Given the description of an element on the screen output the (x, y) to click on. 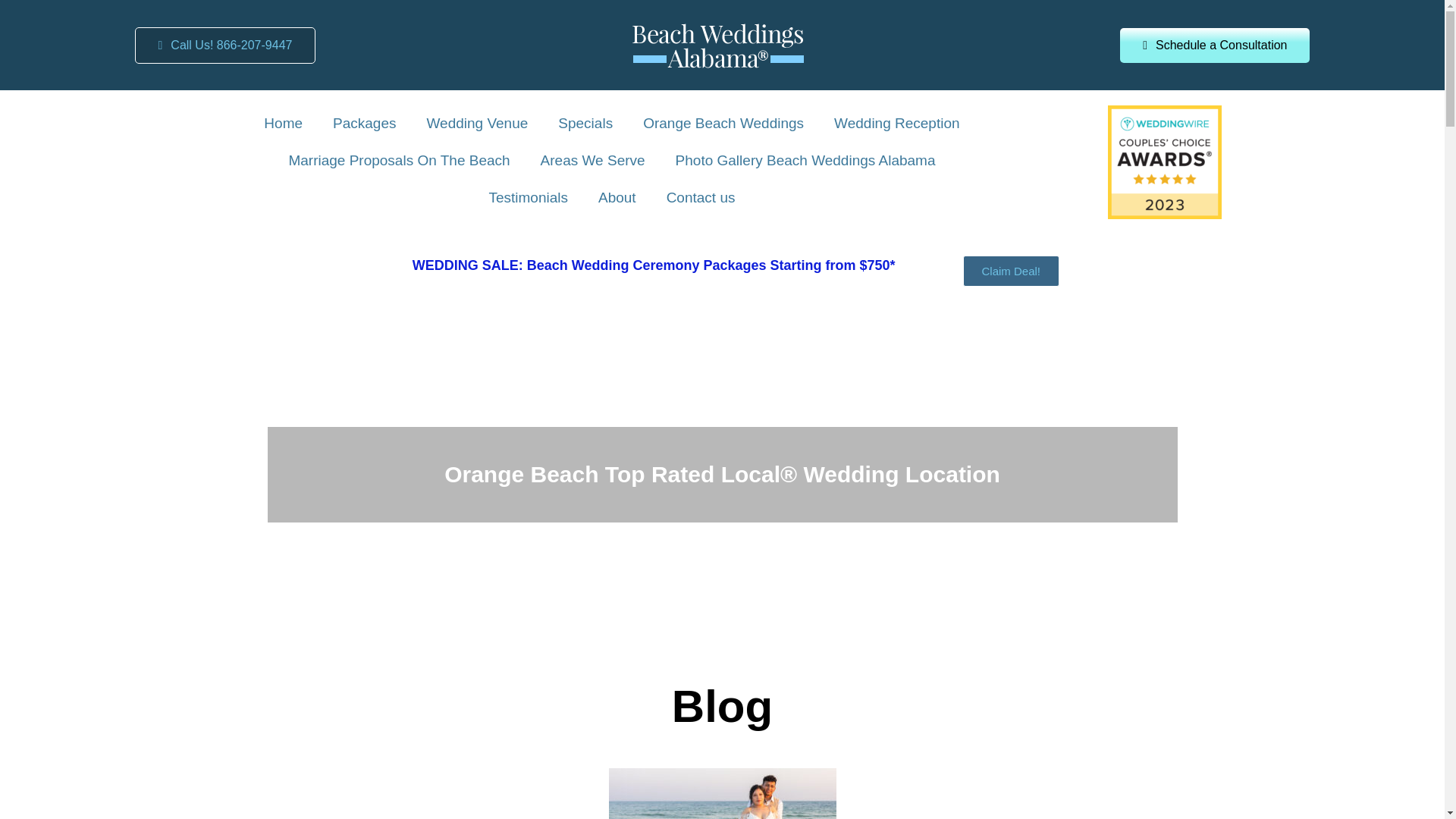
Home (282, 123)
Orange Beach Weddings (722, 123)
Areas We Serve (593, 160)
Call Us! 866-207-9447 (225, 45)
Schedule a Consultation (1213, 44)
Packages (363, 123)
Testimonials (528, 198)
Wedding Reception (896, 123)
Marriage Proposals On The Beach (398, 160)
About (616, 198)
